Given the description of an element on the screen output the (x, y) to click on. 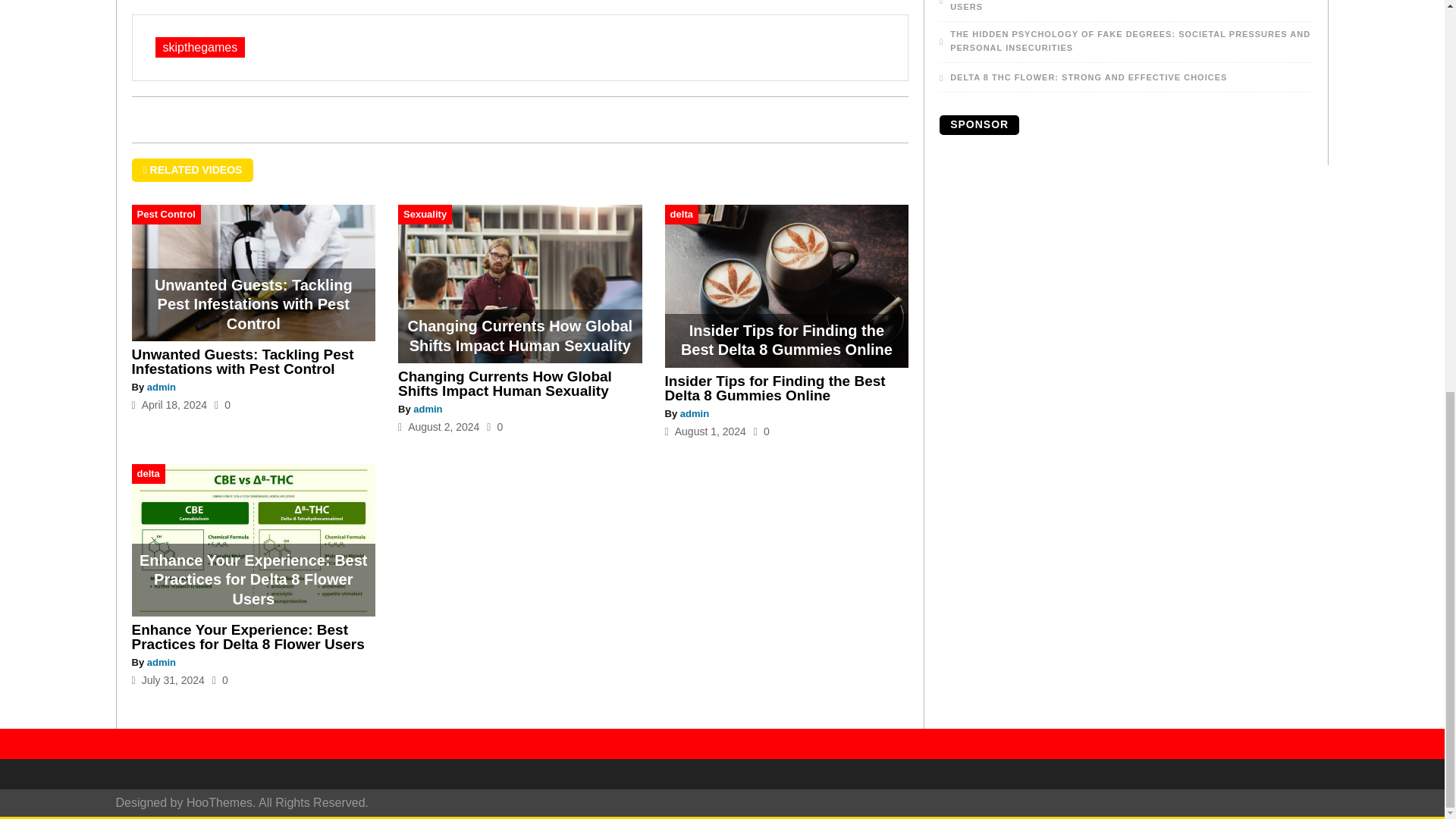
Visits (222, 404)
Changing Currents How Global Shifts Impact Human Sexuality (504, 383)
admin (161, 387)
admin (161, 662)
skipthegames (199, 46)
Visits (220, 680)
admin (427, 408)
Posts by admin (161, 387)
Posts by admin (161, 662)
Visits (762, 431)
Visits (494, 426)
Insider Tips for Finding the Best Delta 8 Gummies Online (775, 388)
Posts by admin (427, 408)
